Given the description of an element on the screen output the (x, y) to click on. 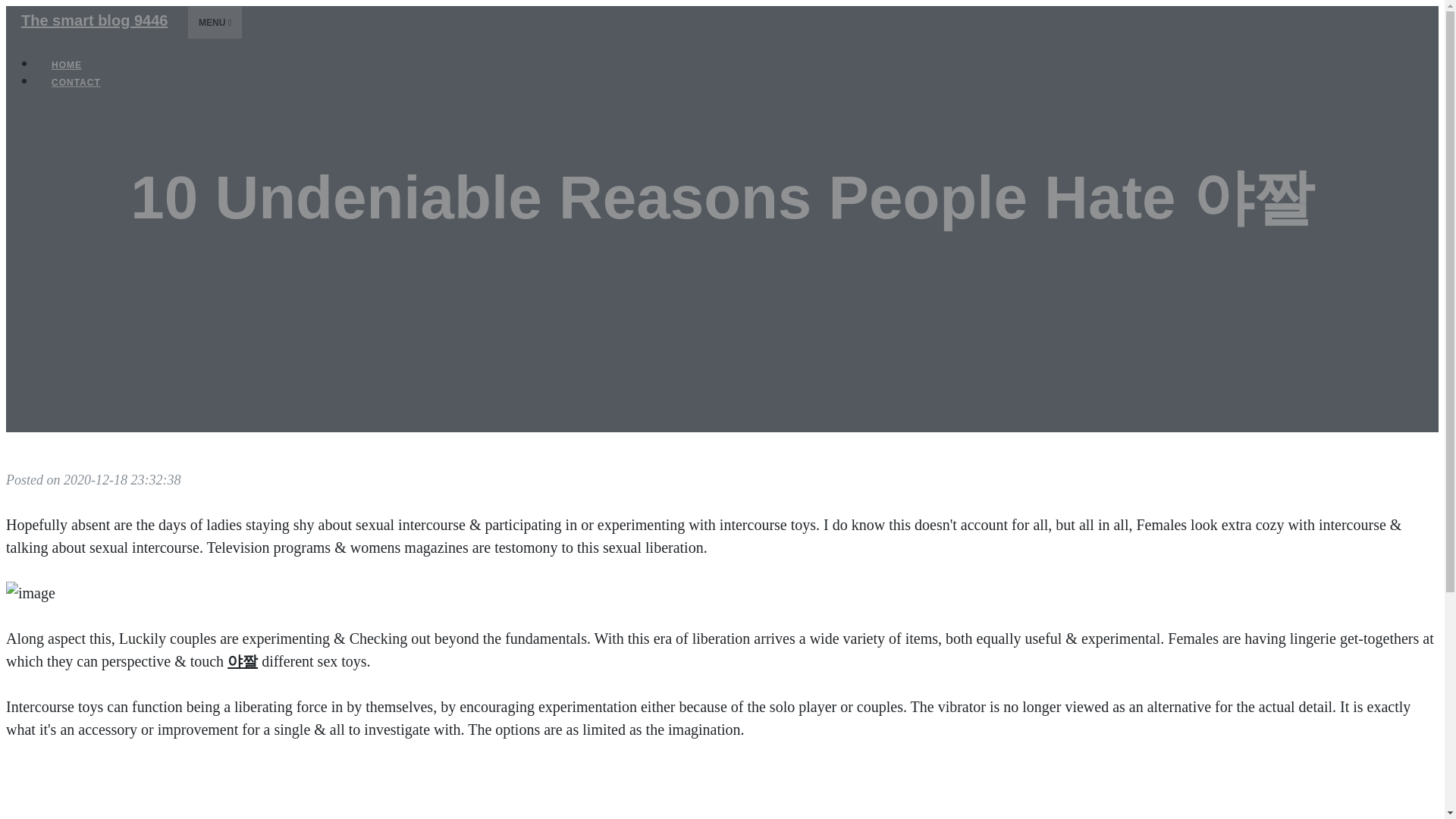
CONTACT (76, 82)
MENU (215, 22)
HOME (66, 64)
The smart blog 9446 (94, 20)
